Given the description of an element on the screen output the (x, y) to click on. 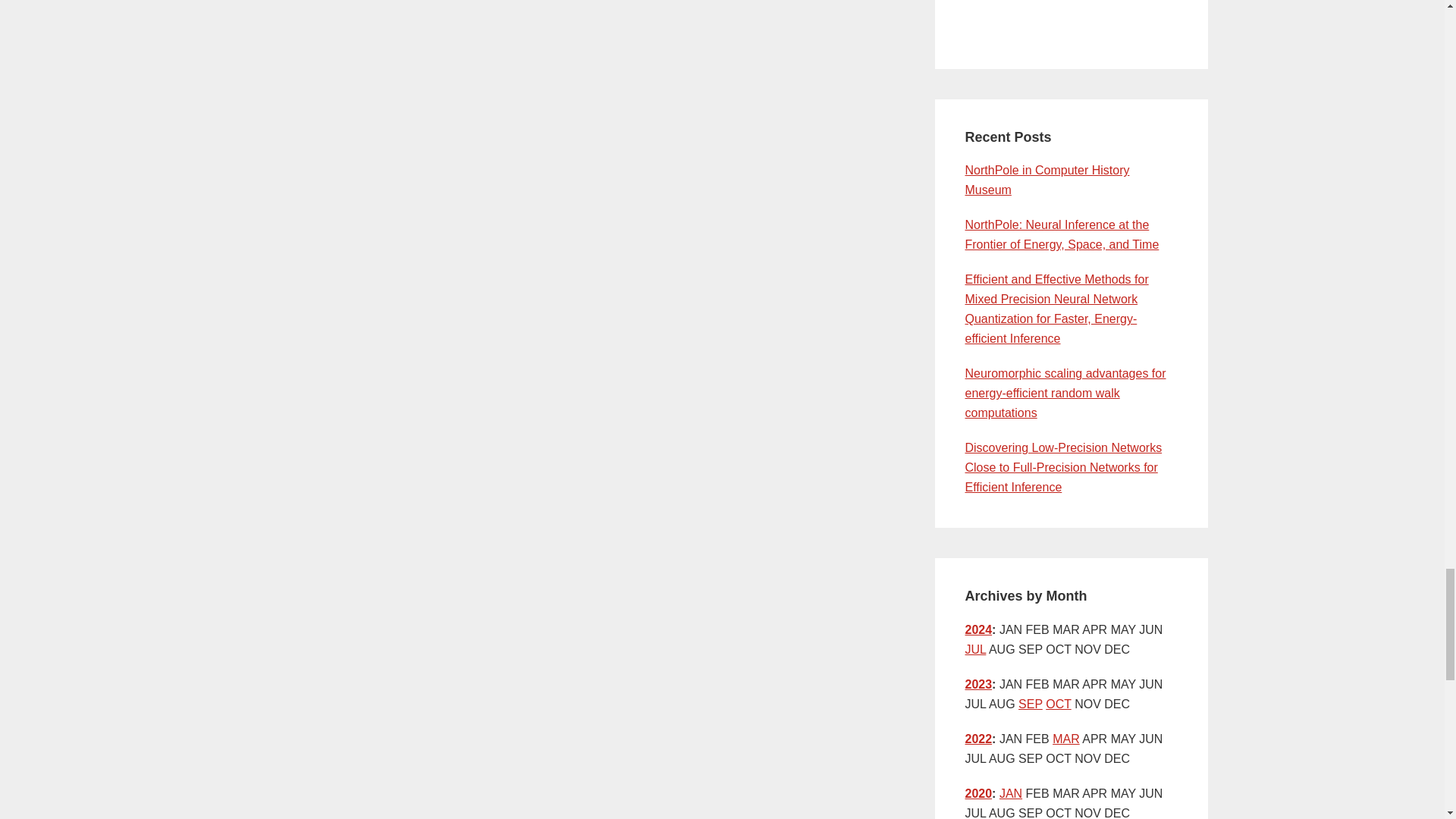
October 2001 (1057, 703)
July 2001 (974, 649)
January 2001 (1010, 793)
March 2001 (1066, 738)
September 2001 (1029, 703)
